Given the description of an element on the screen output the (x, y) to click on. 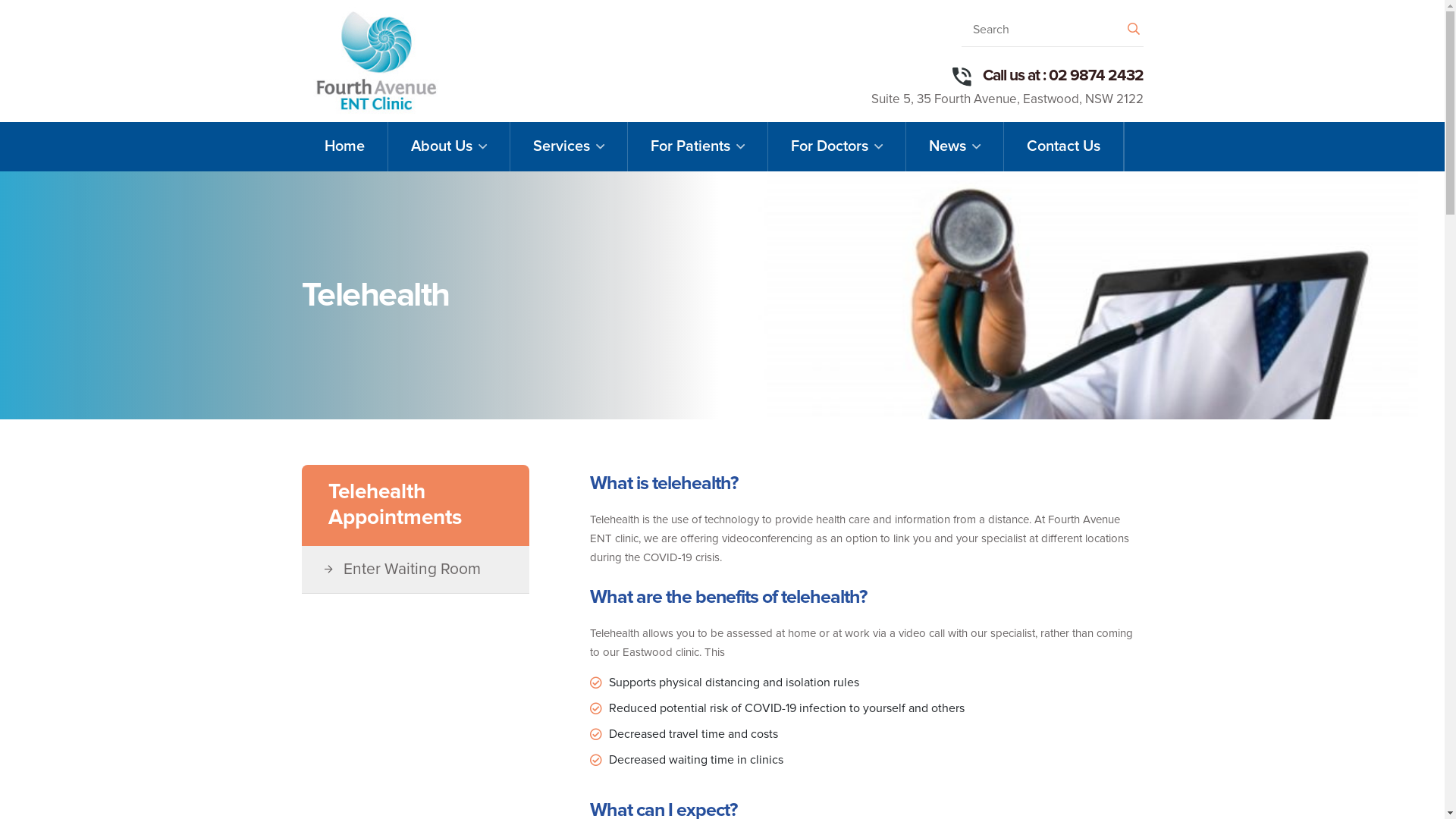
Contact Us Element type: text (1063, 146)
For Patients Element type: text (697, 146)
About Us Element type: text (448, 146)
Services Element type: text (567, 146)
For Doctors Element type: text (835, 146)
Home Element type: text (344, 146)
Enter Waiting Room Element type: text (429, 569)
News Element type: text (953, 146)
